Given the description of an element on the screen output the (x, y) to click on. 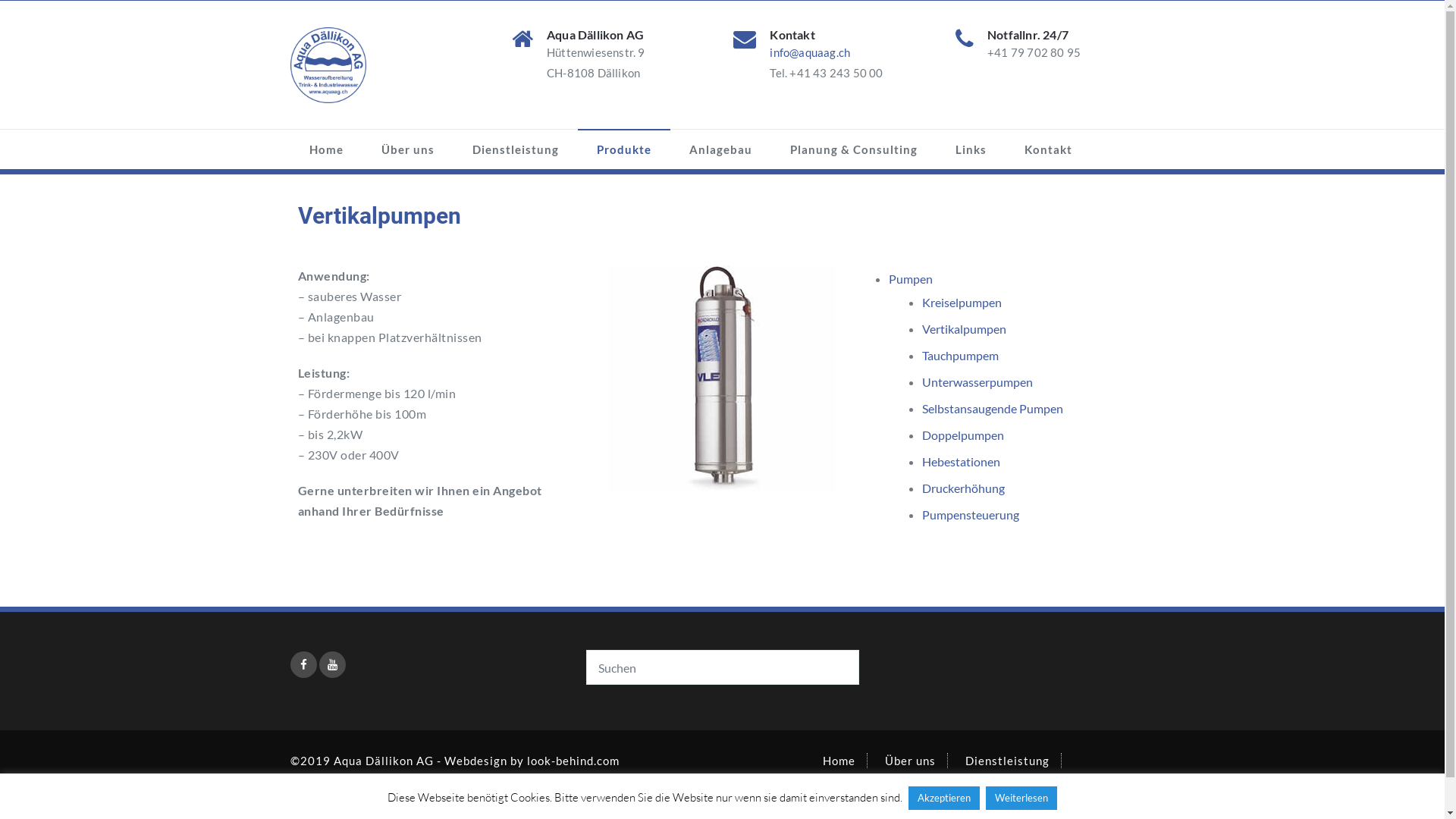
Hebestationen Element type: text (961, 461)
Kreiselpumpen Element type: text (961, 301)
Dienstleistung Element type: text (515, 148)
Home Element type: text (838, 760)
Dienstleistung Element type: text (1007, 760)
Akzeptieren Element type: text (943, 797)
Weiterlesen Element type: text (1021, 797)
Pumpensteuerung Element type: text (970, 514)
Links Element type: text (969, 148)
Planung & Consulting Element type: text (1055, 790)
Tauchpumpem Element type: text (960, 355)
look-behind.com Element type: text (572, 760)
Anlagebau Element type: text (720, 148)
Kontakt Element type: text (1048, 148)
Planung & Consulting Element type: text (852, 148)
Produkte Element type: text (848, 790)
Selbstansaugende Pumpen Element type: text (992, 408)
Pumpen Element type: text (910, 278)
Vertikalpumpen Element type: text (964, 328)
Unterwasserpumpen Element type: text (977, 381)
Home Element type: text (325, 148)
Anlagebau Element type: text (934, 790)
info@aquaag.ch Element type: text (809, 52)
Produkte Element type: text (623, 148)
Doppelpumpen Element type: text (963, 434)
